Given the description of an element on the screen output the (x, y) to click on. 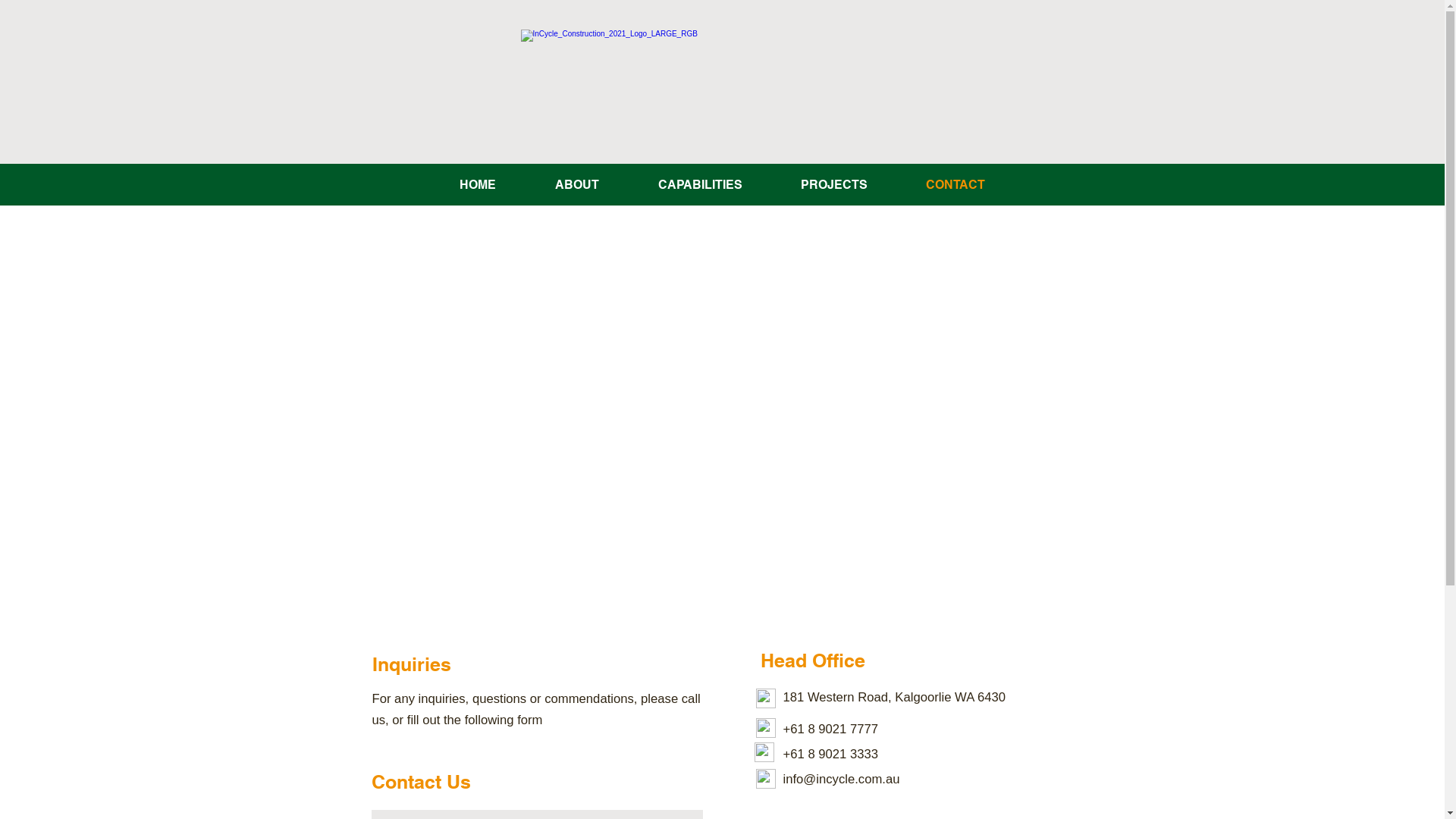
HOME Element type: text (476, 184)
info@incycle.com.au Element type: text (840, 778)
CAPABILITIES Element type: text (699, 184)
CONTACT Element type: text (954, 184)
ABOUT Element type: text (575, 184)
PROJECTS Element type: text (834, 184)
